Given the description of an element on the screen output the (x, y) to click on. 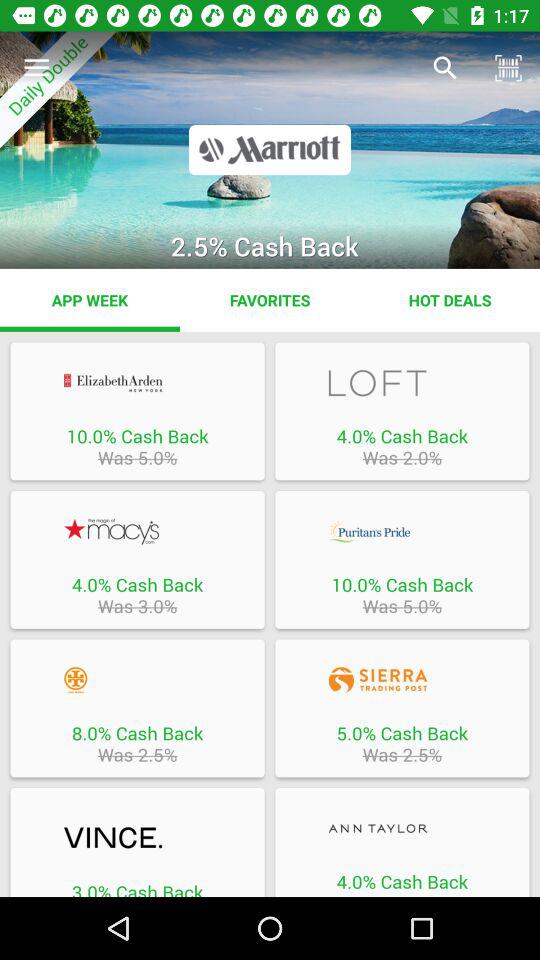
selection option (137, 838)
